Given the description of an element on the screen output the (x, y) to click on. 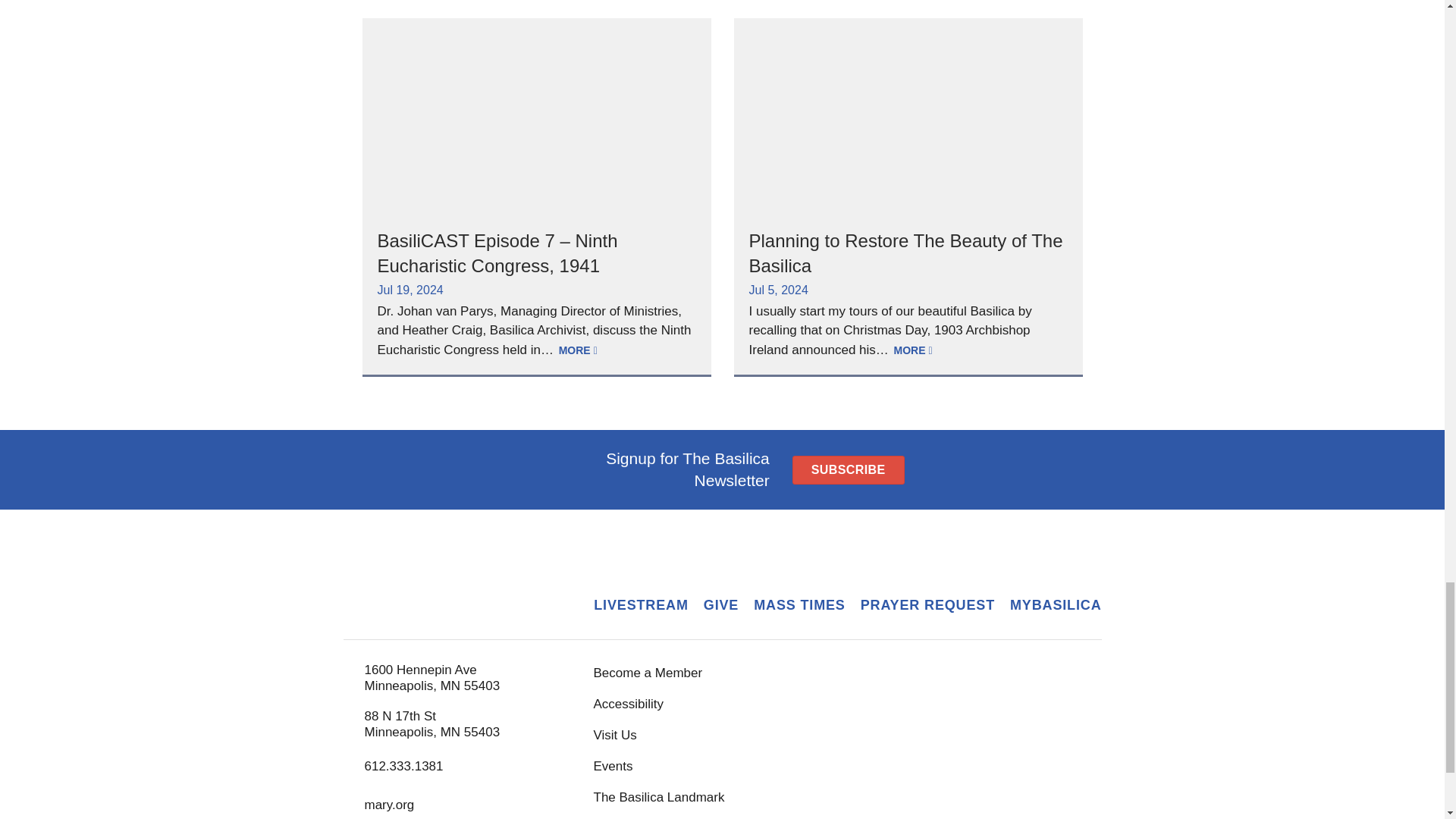
Basilica Logo (446, 589)
Planning to Restore The Beauty of The Basilica (905, 252)
